Given the description of an element on the screen output the (x, y) to click on. 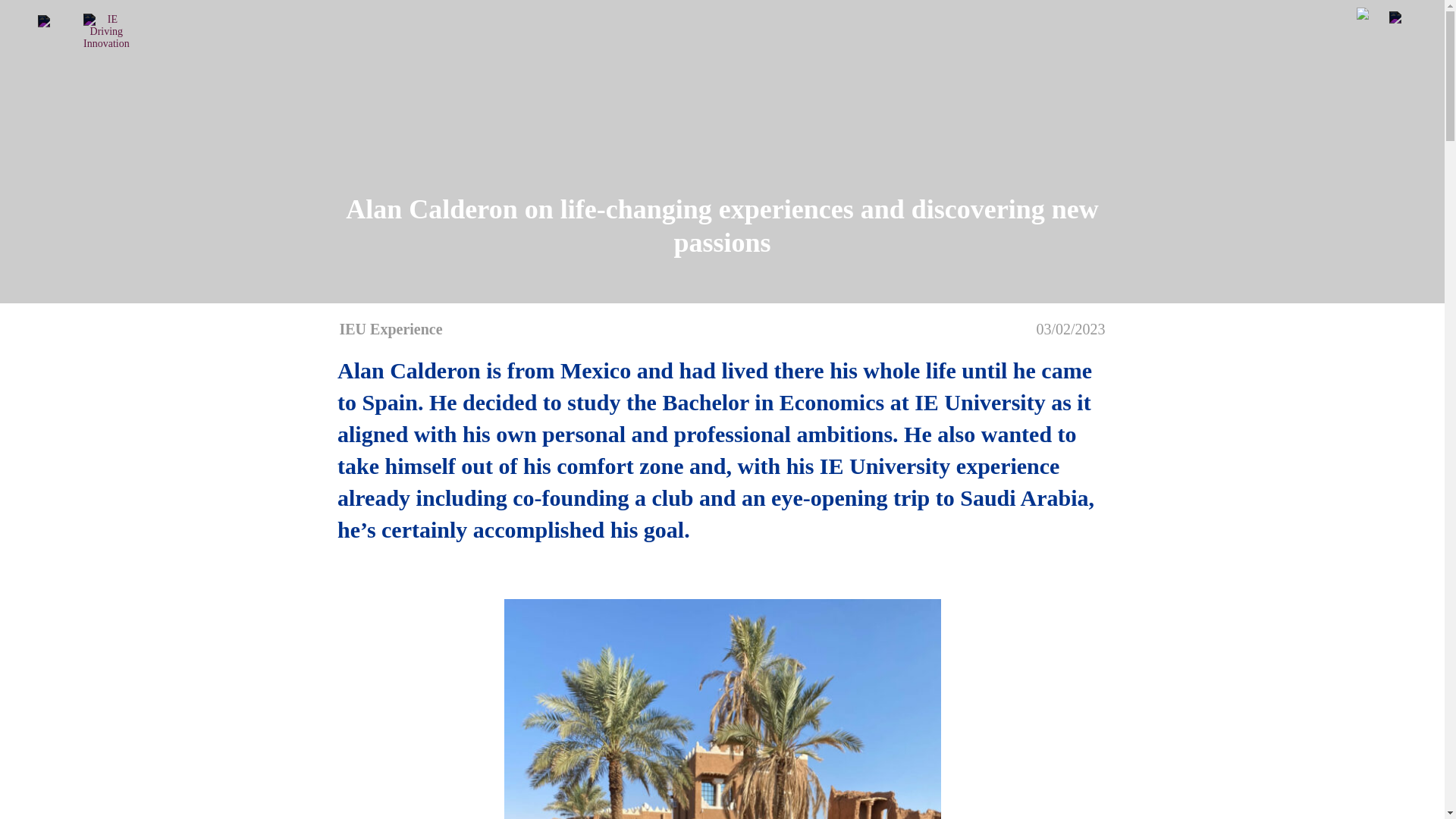
IEU Experience (390, 329)
